Given the description of an element on the screen output the (x, y) to click on. 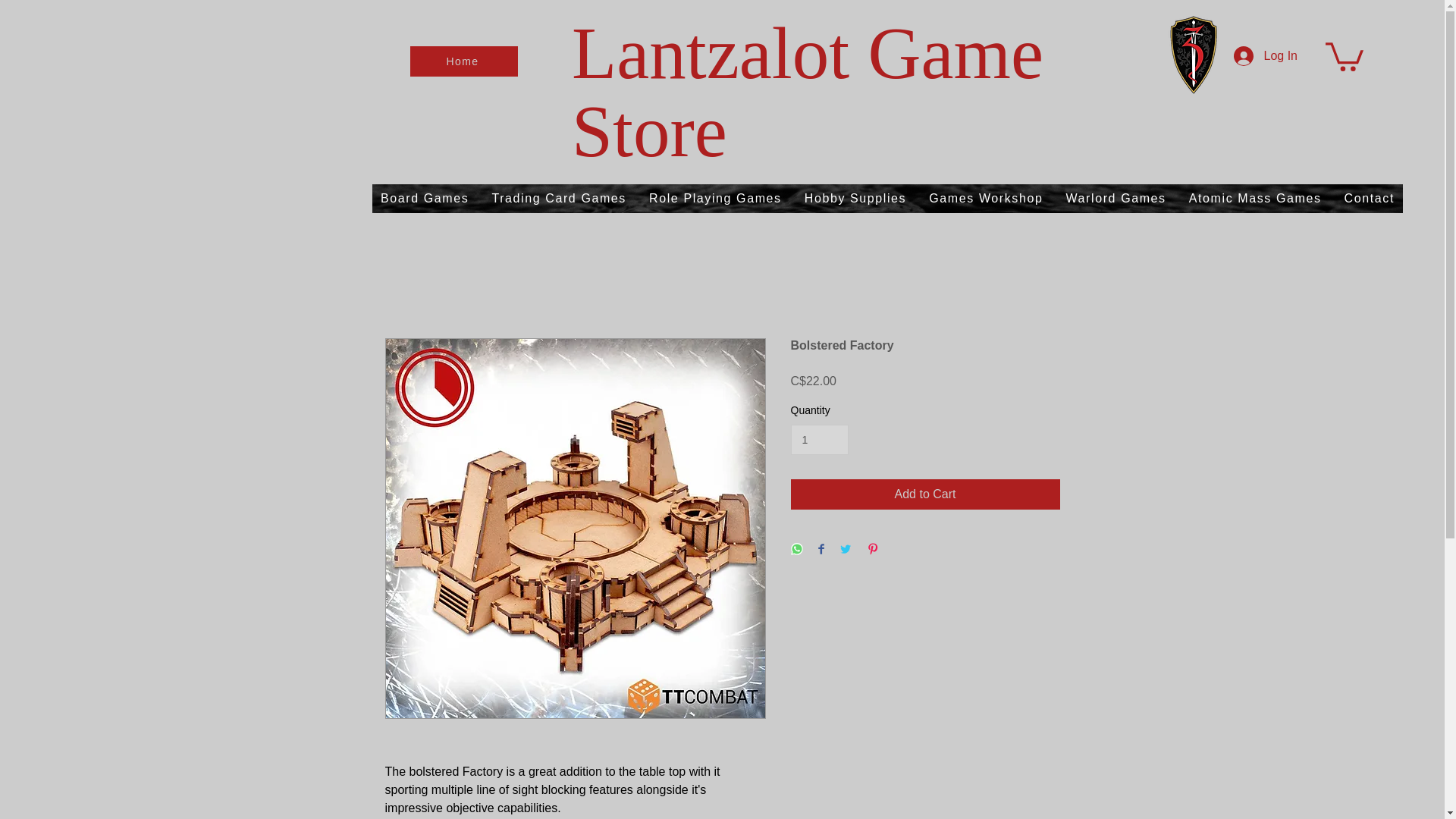
Log In (1265, 55)
Home (464, 60)
Role Playing Games (715, 198)
Trading Card Games (558, 198)
Hobby Supplies (855, 198)
Board Games (424, 198)
1 (818, 440)
